Given the description of an element on the screen output the (x, y) to click on. 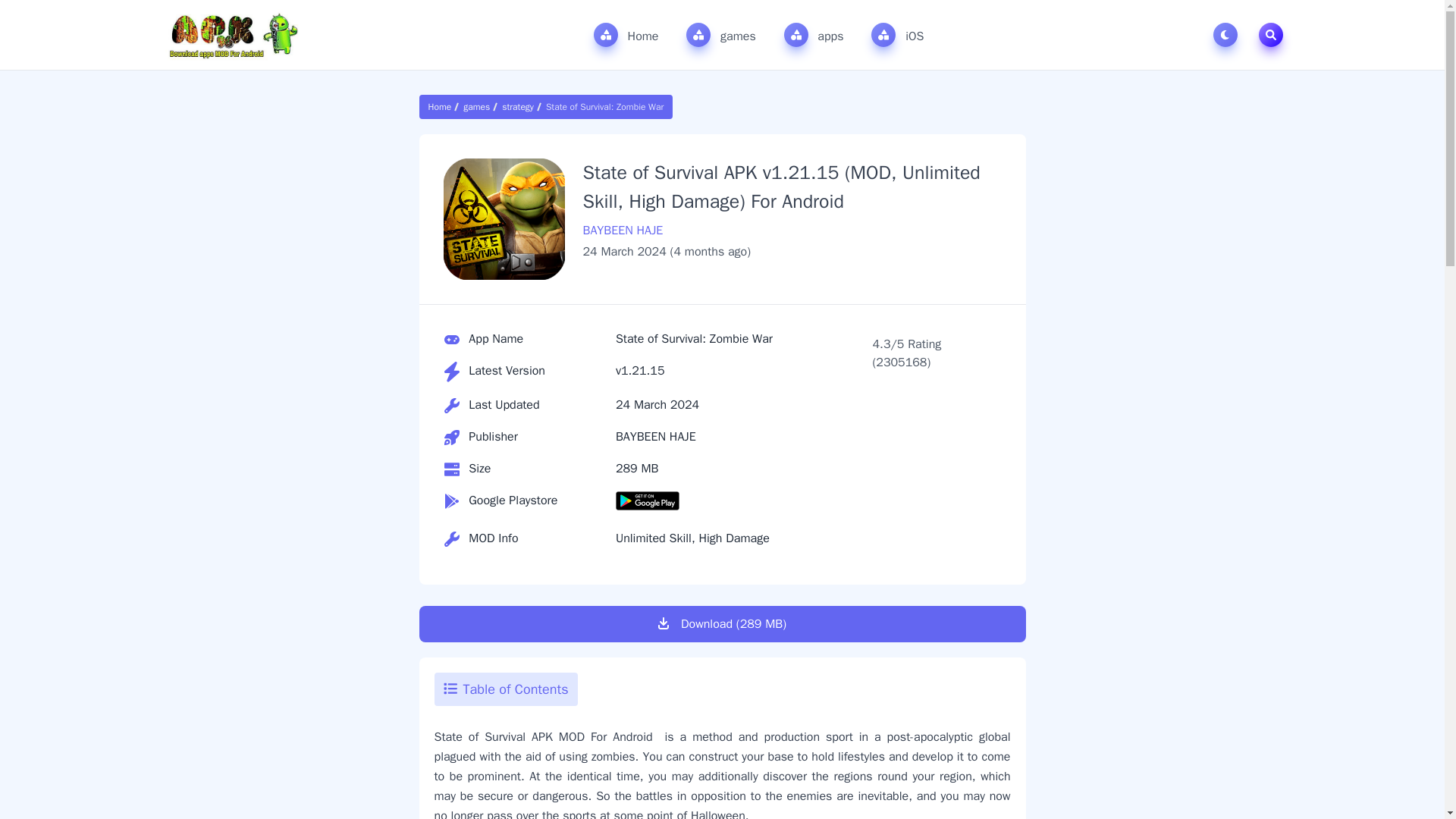
Home (442, 106)
Toggle Search (1270, 34)
Table of Contents (504, 688)
iOS (896, 34)
strategy (518, 106)
games (720, 34)
Toggle Dark Mode (1227, 34)
Home (626, 34)
games (476, 106)
apps (814, 34)
